Given the description of an element on the screen output the (x, y) to click on. 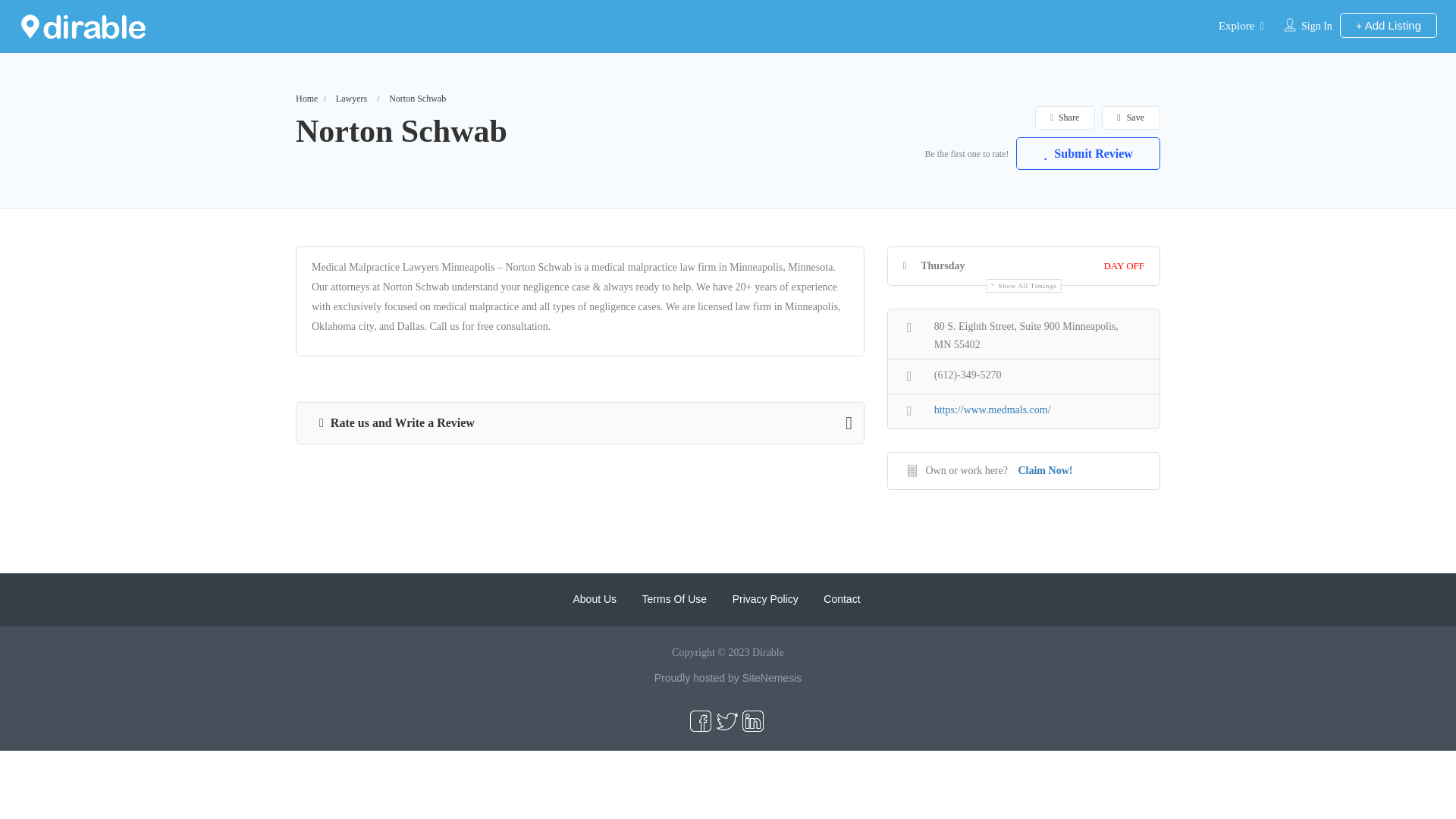
Save (1129, 117)
Share (1063, 117)
Submit (419, 502)
Add Listing (1388, 25)
Lawyers (351, 98)
Sign In (1316, 25)
Home (306, 98)
Explore (1235, 25)
